Given the description of an element on the screen output the (x, y) to click on. 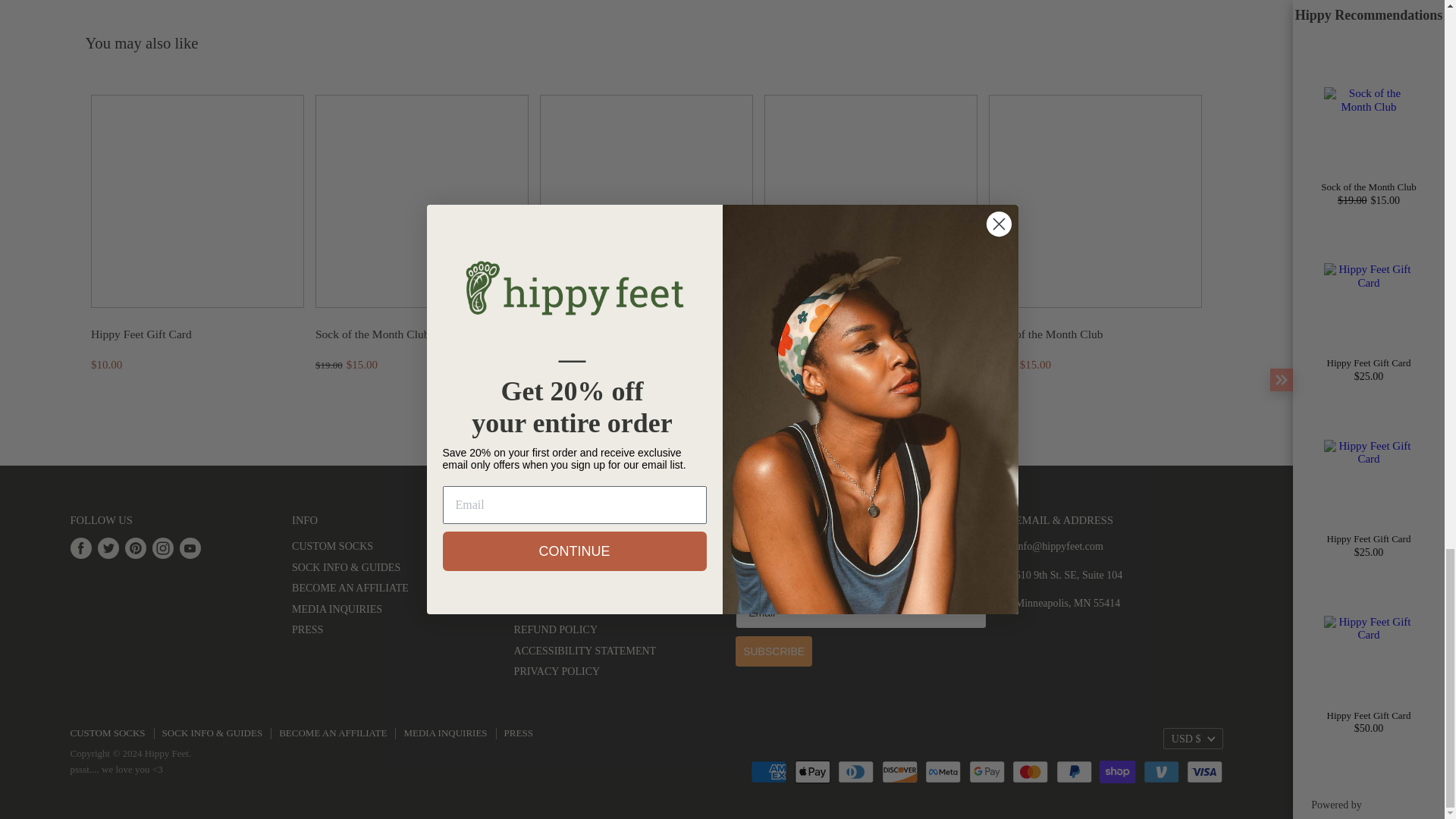
Pinterest (134, 547)
Youtube (189, 547)
Instagram (162, 547)
Twitter (107, 547)
Facebook (80, 547)
